Given the description of an element on the screen output the (x, y) to click on. 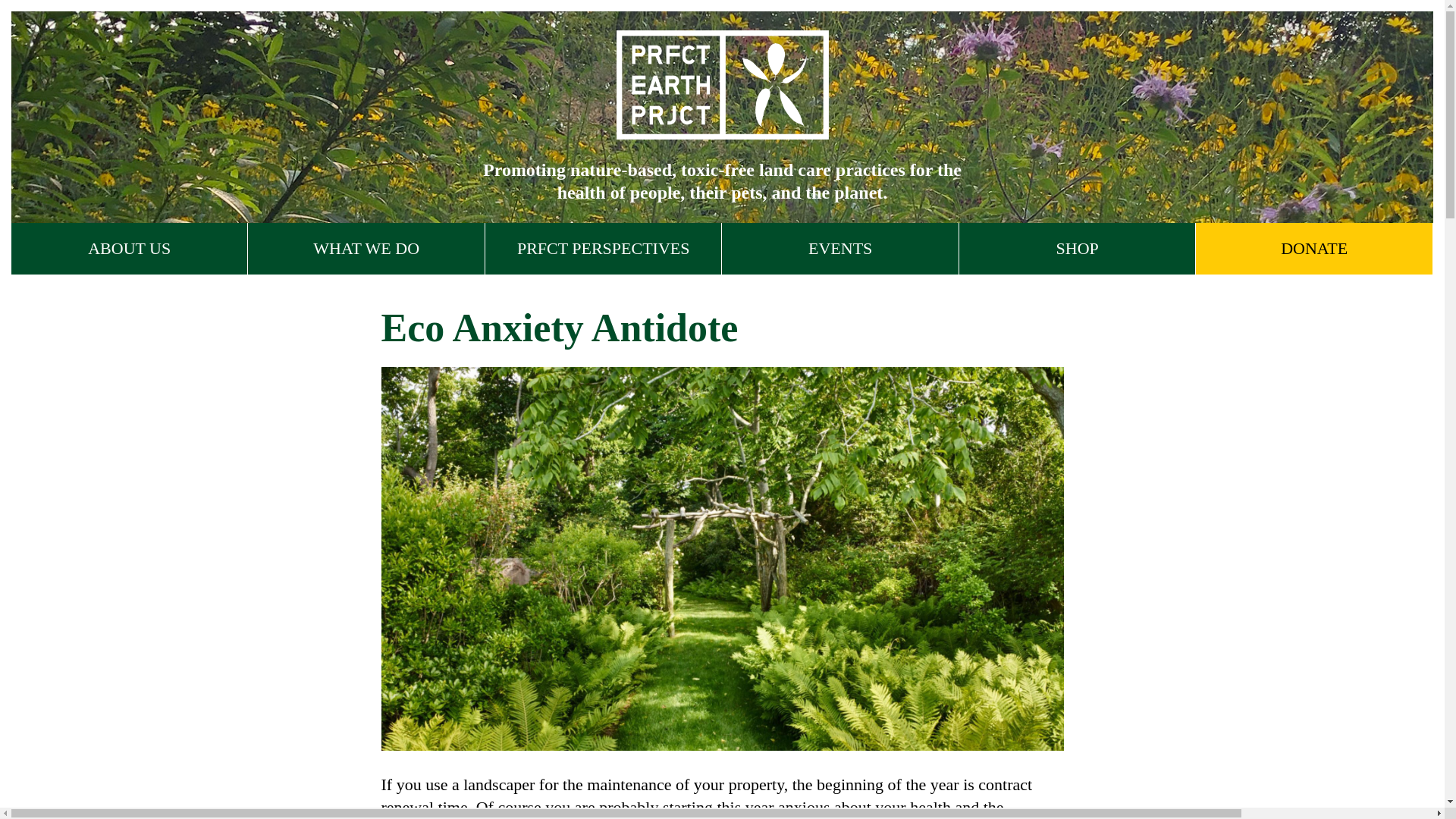
WHAT WE DO (365, 248)
ABOUT US (129, 248)
PRFCT PERSPECTIVES (602, 248)
DONATE (1313, 248)
EVENTS (840, 248)
SHOP (1077, 248)
